Given the description of an element on the screen output the (x, y) to click on. 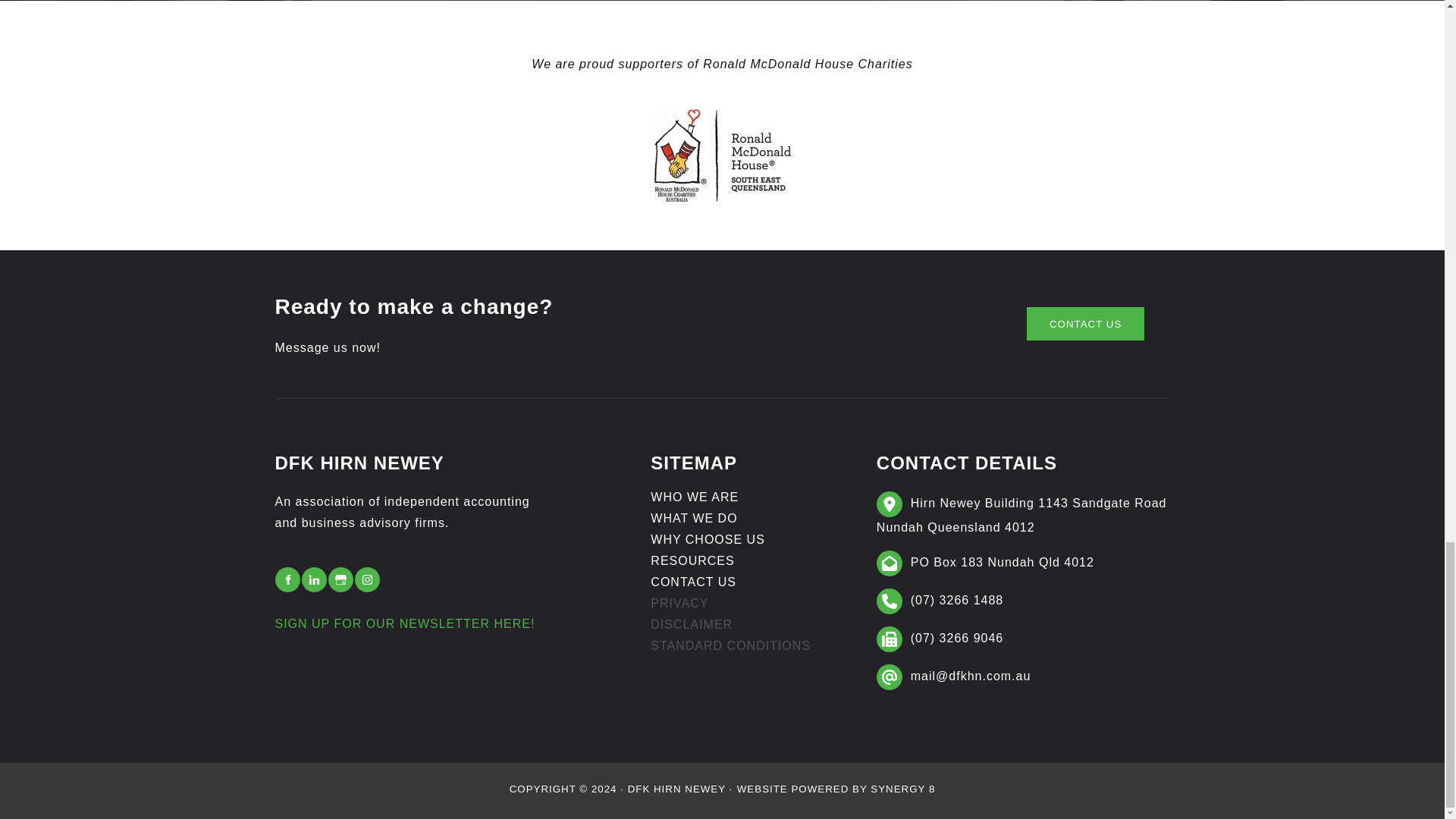
Google My Business (339, 579)
Instagram (367, 579)
LinkedIn (313, 579)
Facebook (287, 579)
